Given the description of an element on the screen output the (x, y) to click on. 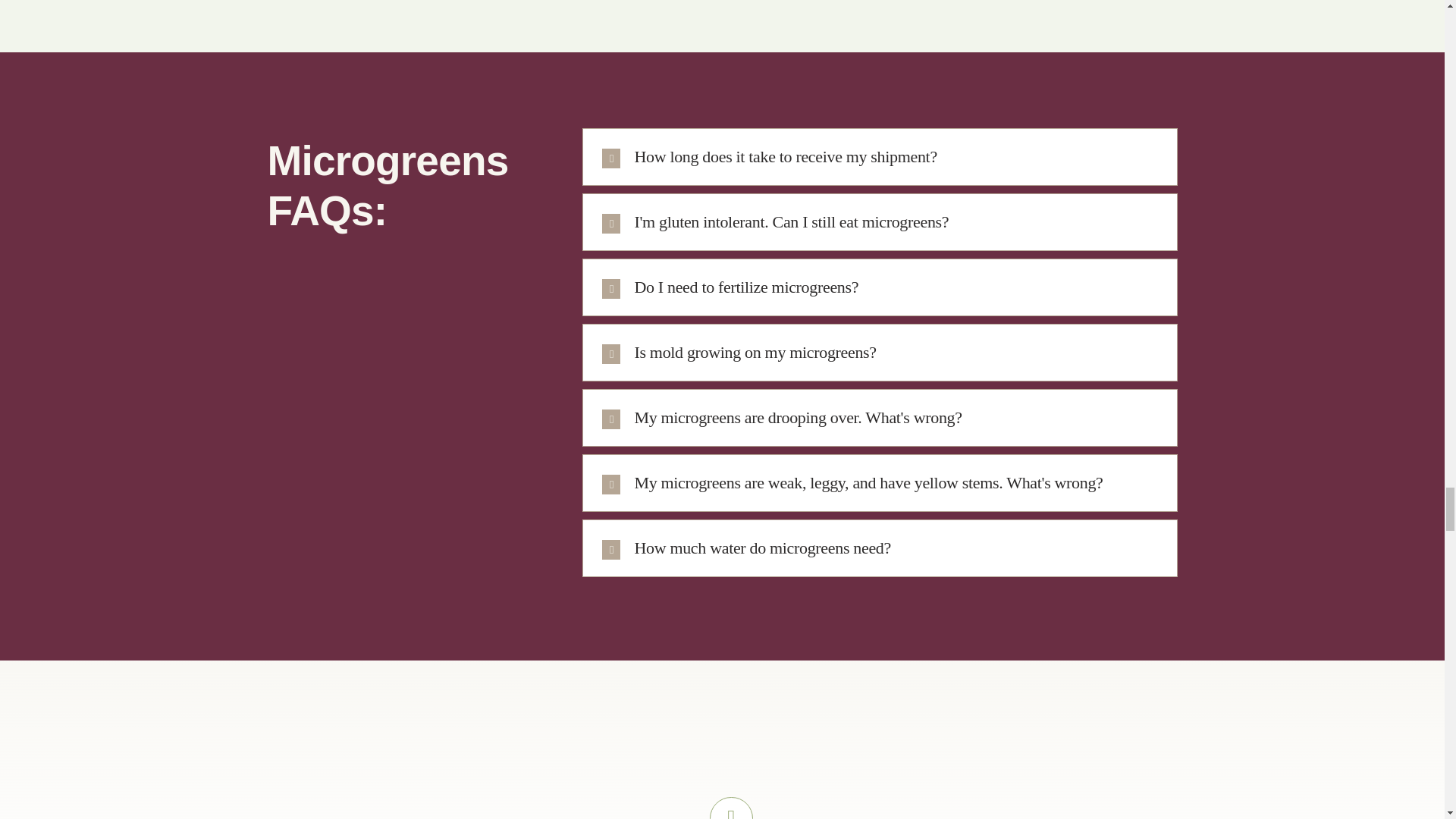
How long does it take to receive my shipment? (879, 156)
I'm gluten intolerant. Can I still eat microgreens? (879, 222)
